Given the description of an element on the screen output the (x, y) to click on. 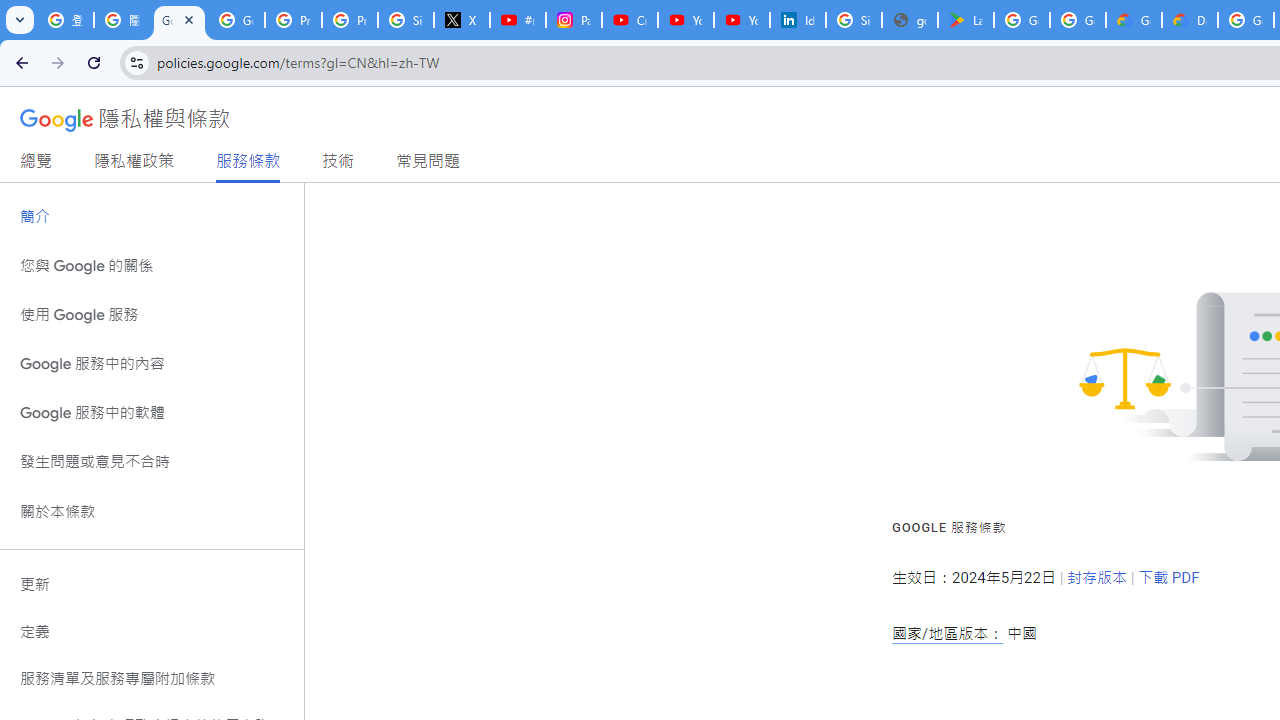
Last Shelter: Survival - Apps on Google Play (966, 20)
X (461, 20)
Privacy Help Center - Policies Help (349, 20)
Sign in - Google Accounts (853, 20)
Google Workspace - Specific Terms (1077, 20)
